Given the description of an element on the screen output the (x, y) to click on. 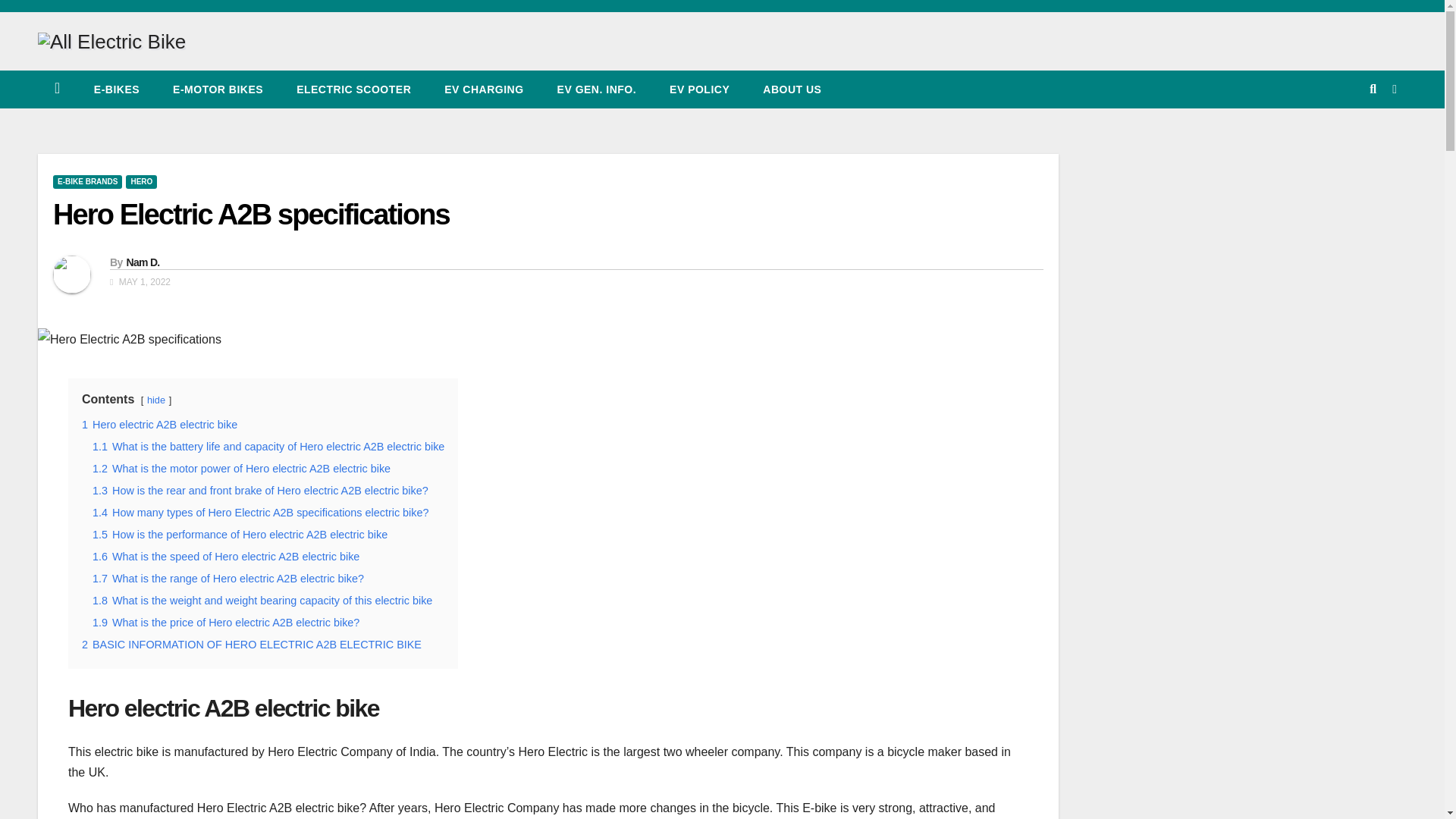
Nam D. (141, 262)
EV CHARGING (484, 89)
ABOUT US (791, 89)
Electric  Scooter (353, 89)
E-MOTOR BIKES (217, 89)
EV GEN. INFO. (596, 89)
E-BIKES (116, 89)
EV POLICY (698, 89)
EV CHARGING (484, 89)
EV GEN. Info. (596, 89)
E-Motor Bikes (217, 89)
E-Bikes (116, 89)
ELECTRIC SCOOTER (353, 89)
